Given the description of an element on the screen output the (x, y) to click on. 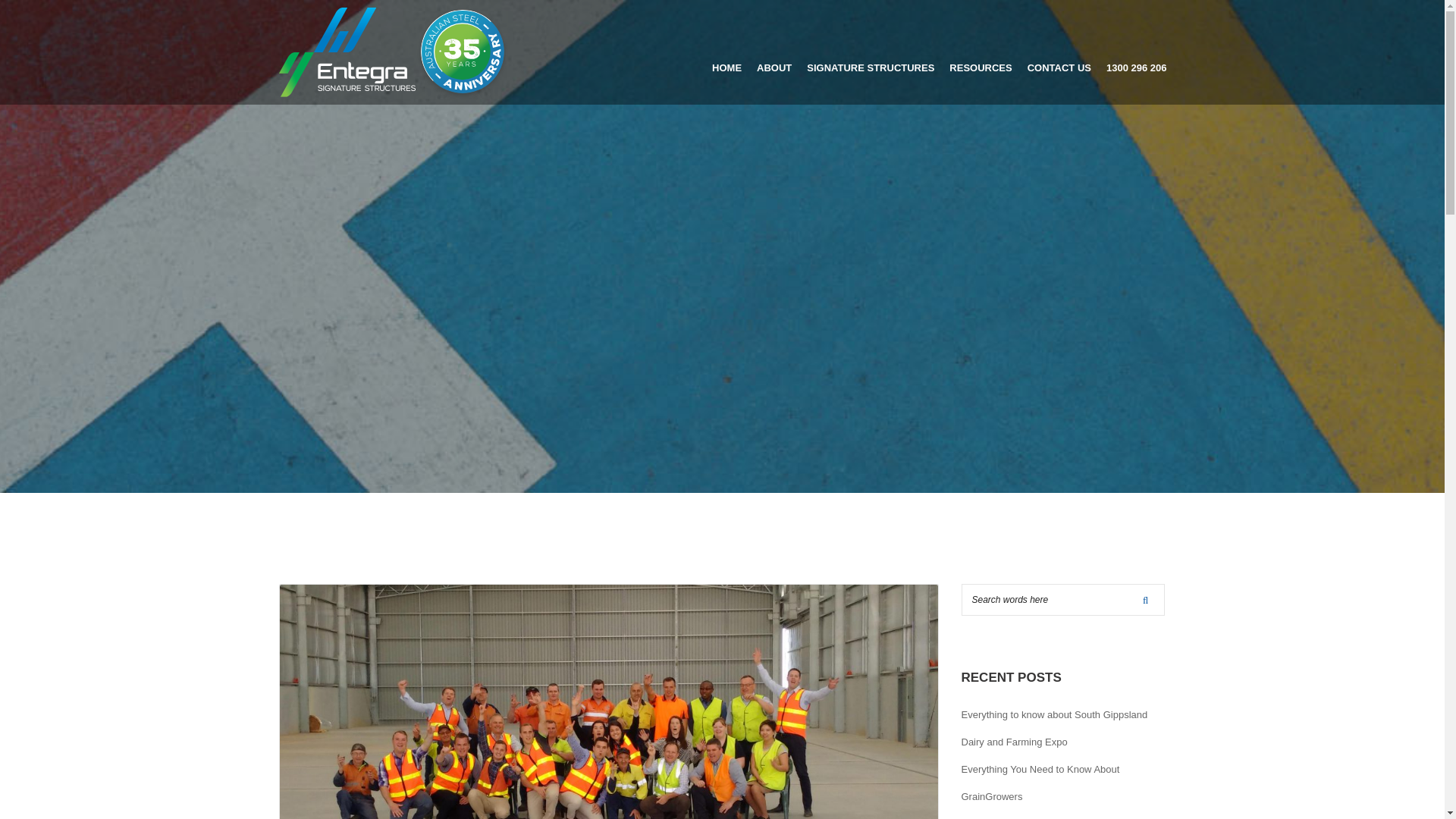
RESOURCES (980, 53)
SIGNATURE STRUCTURES (870, 53)
CONTACT US (1058, 53)
1300 296 206 (1136, 53)
SIGNATURE STRUCTURES (870, 53)
